Given the description of an element on the screen output the (x, y) to click on. 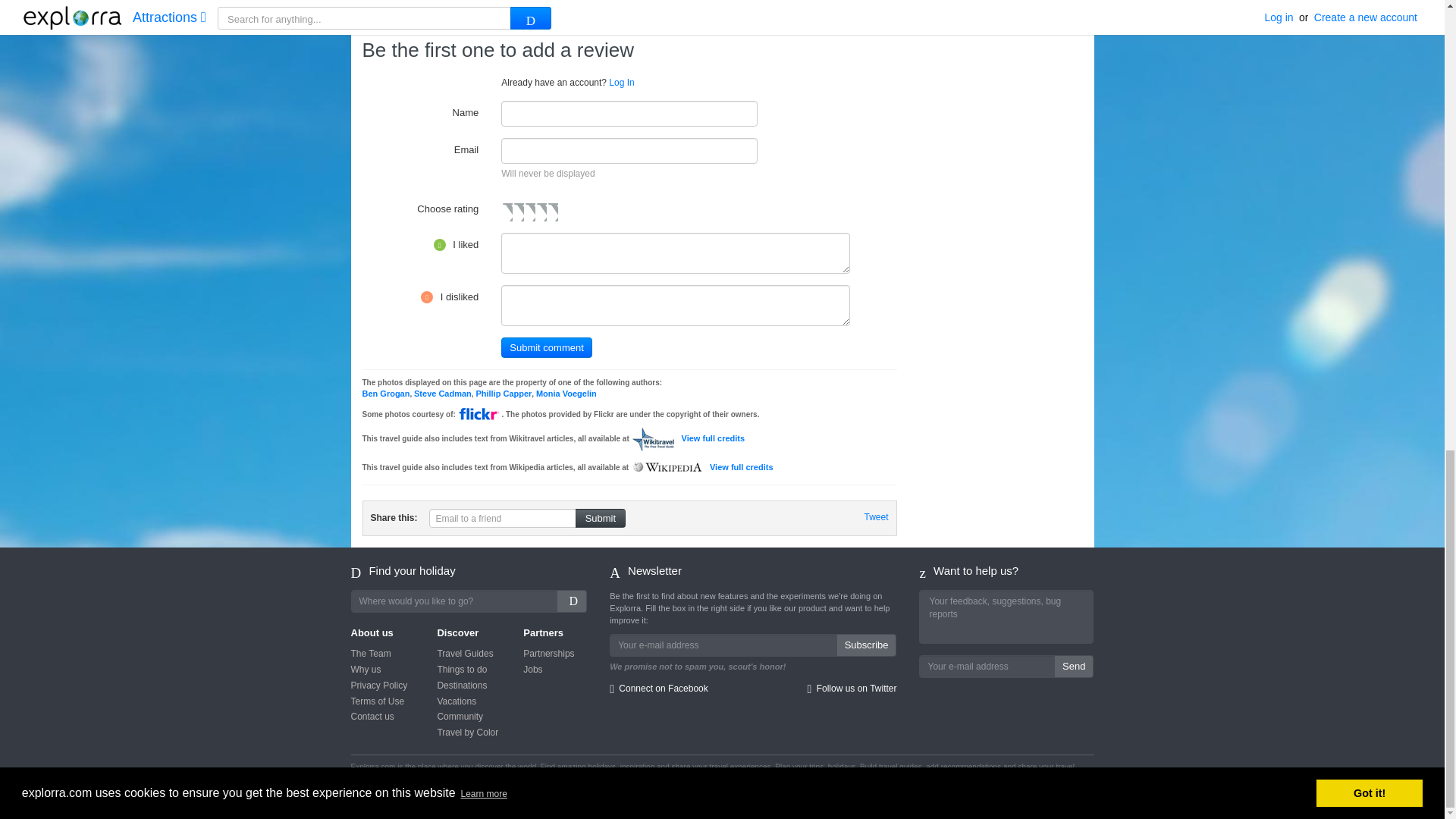
Flickr (478, 413)
